Given the description of an element on the screen output the (x, y) to click on. 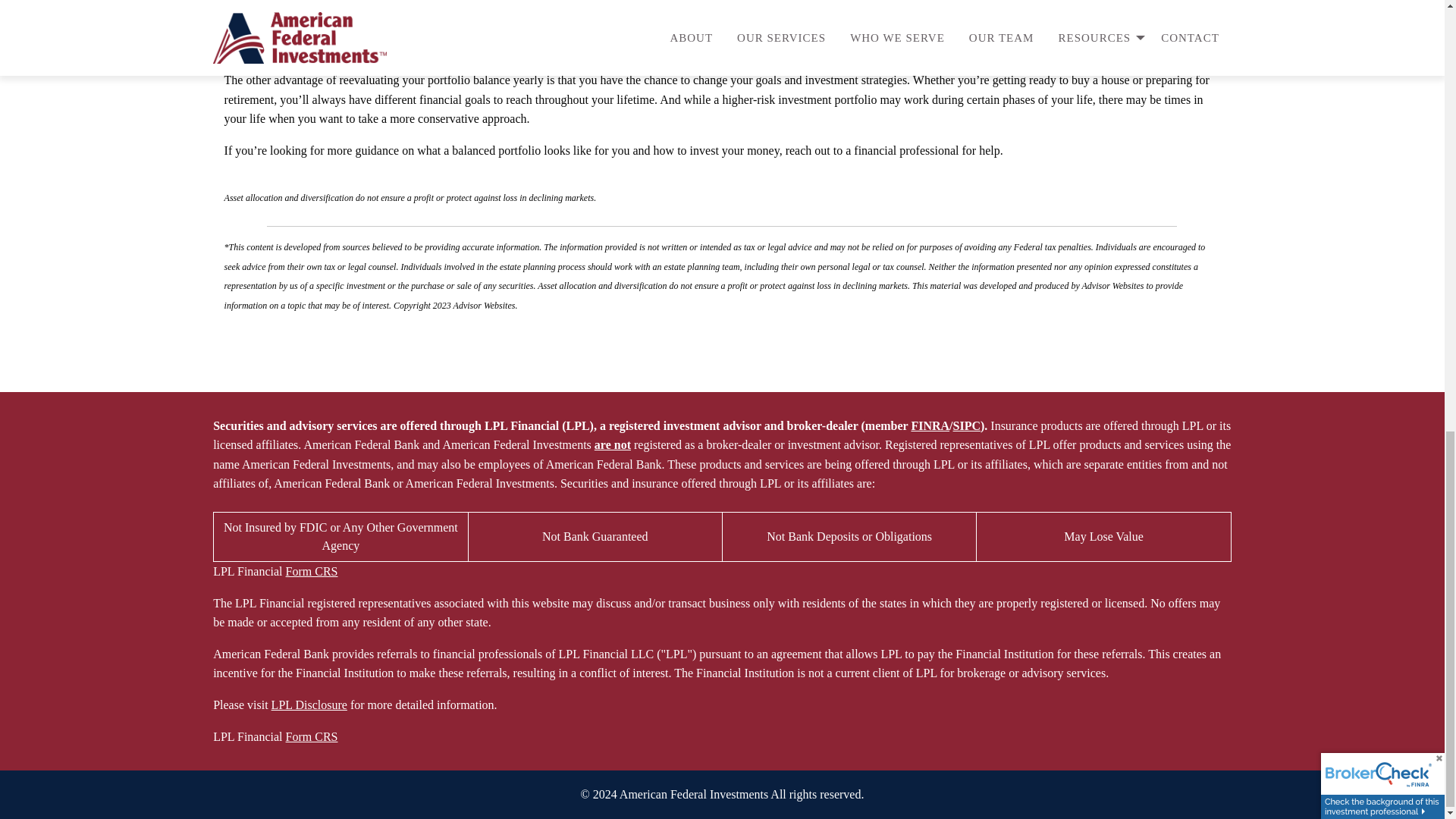
SIPC (966, 425)
LPL Disclosure (308, 704)
FINRA (930, 425)
FINRA (930, 425)
SIPC (966, 425)
Form CRS (311, 571)
LPL Disclosure (308, 704)
Form CRS (311, 736)
